Given the description of an element on the screen output the (x, y) to click on. 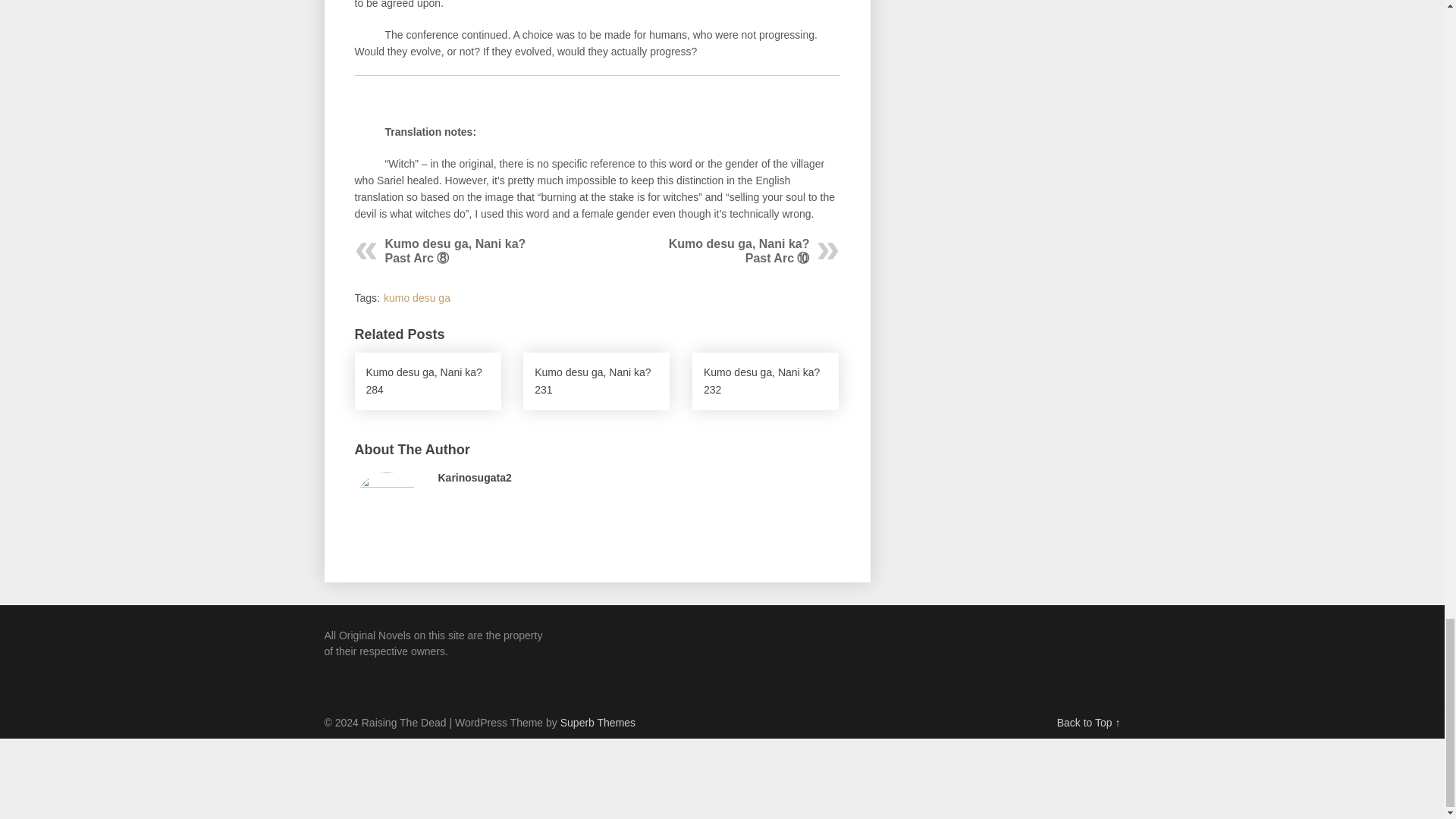
Kumo desu ga, Nani ka? 284 (427, 381)
Kumo desu ga, Nani ka? 232 (765, 381)
Superb Themes (597, 722)
Kumo desu ga, Nani ka? 232 (765, 381)
Kumo desu ga, Nani ka? 284 (427, 381)
Kumo desu ga, Nani ka? 231 (595, 381)
kumo desu ga (416, 297)
Kumo desu ga, Nani ka? 231 (595, 381)
